Given the description of an element on the screen output the (x, y) to click on. 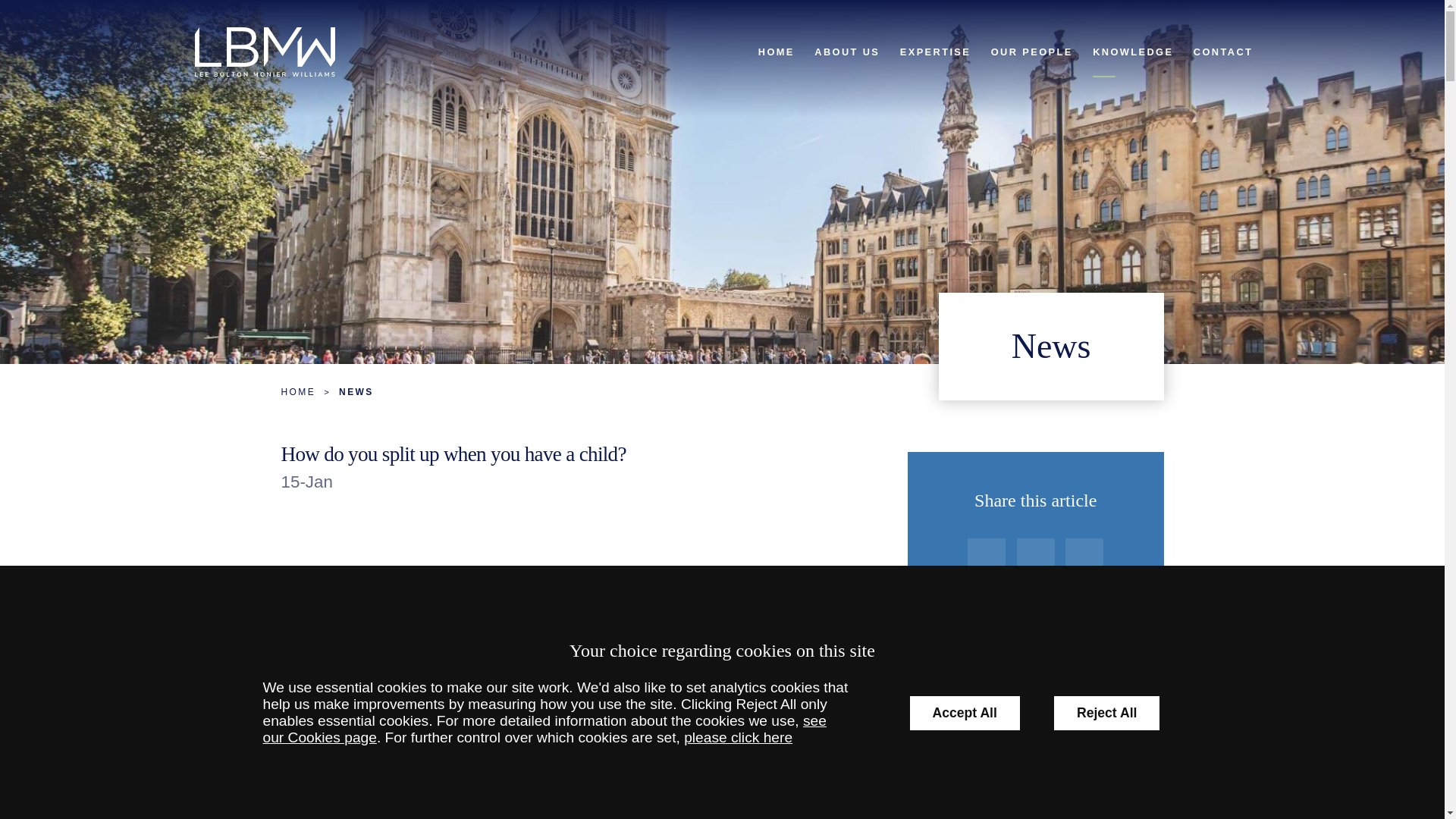
ABOUT US (847, 51)
HOME (776, 51)
EXPERTISE (935, 51)
